Given the description of an element on the screen output the (x, y) to click on. 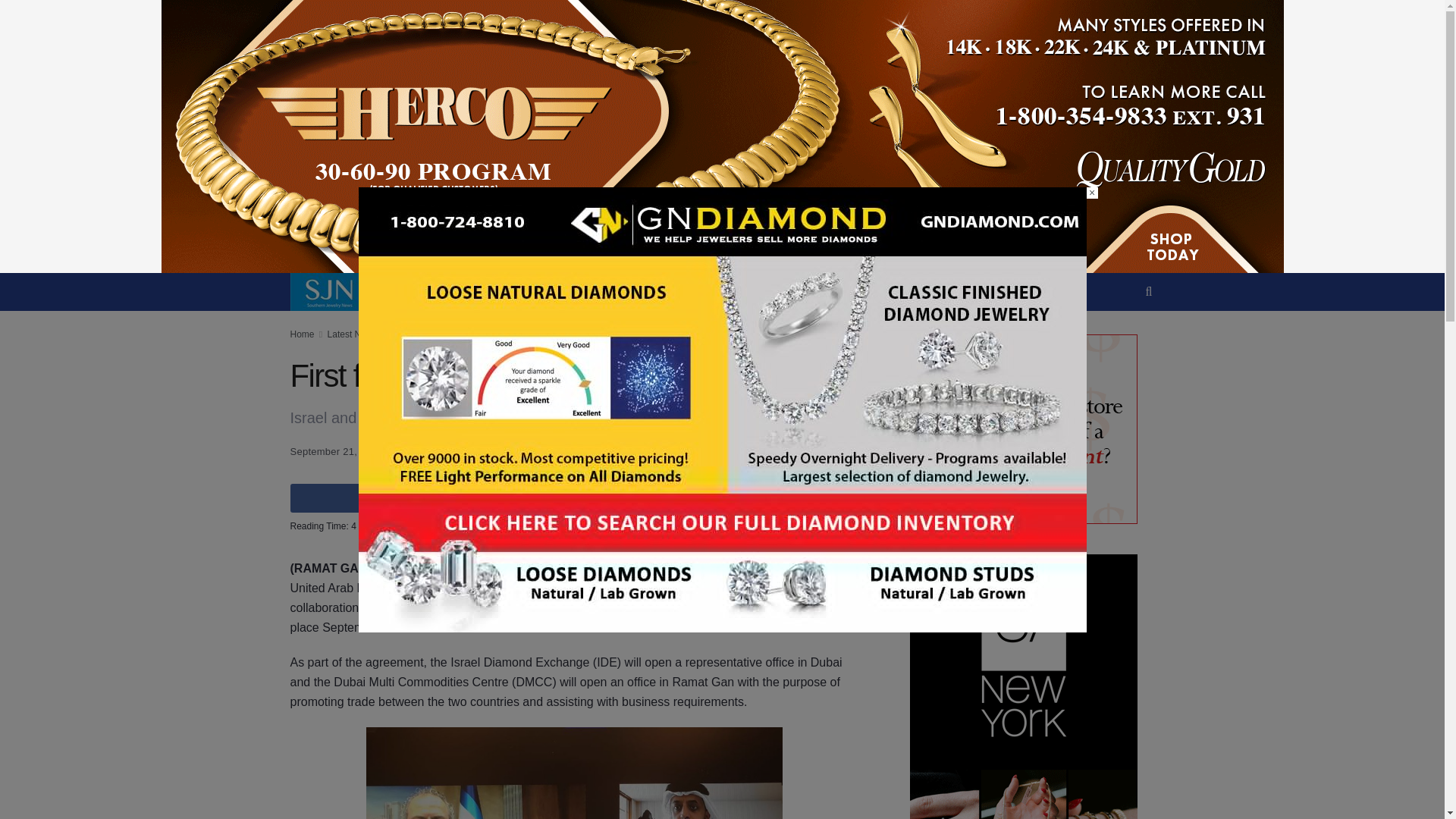
close (1091, 192)
FEATURED (508, 272)
LATEST NEWS (599, 272)
